Given the description of an element on the screen output the (x, y) to click on. 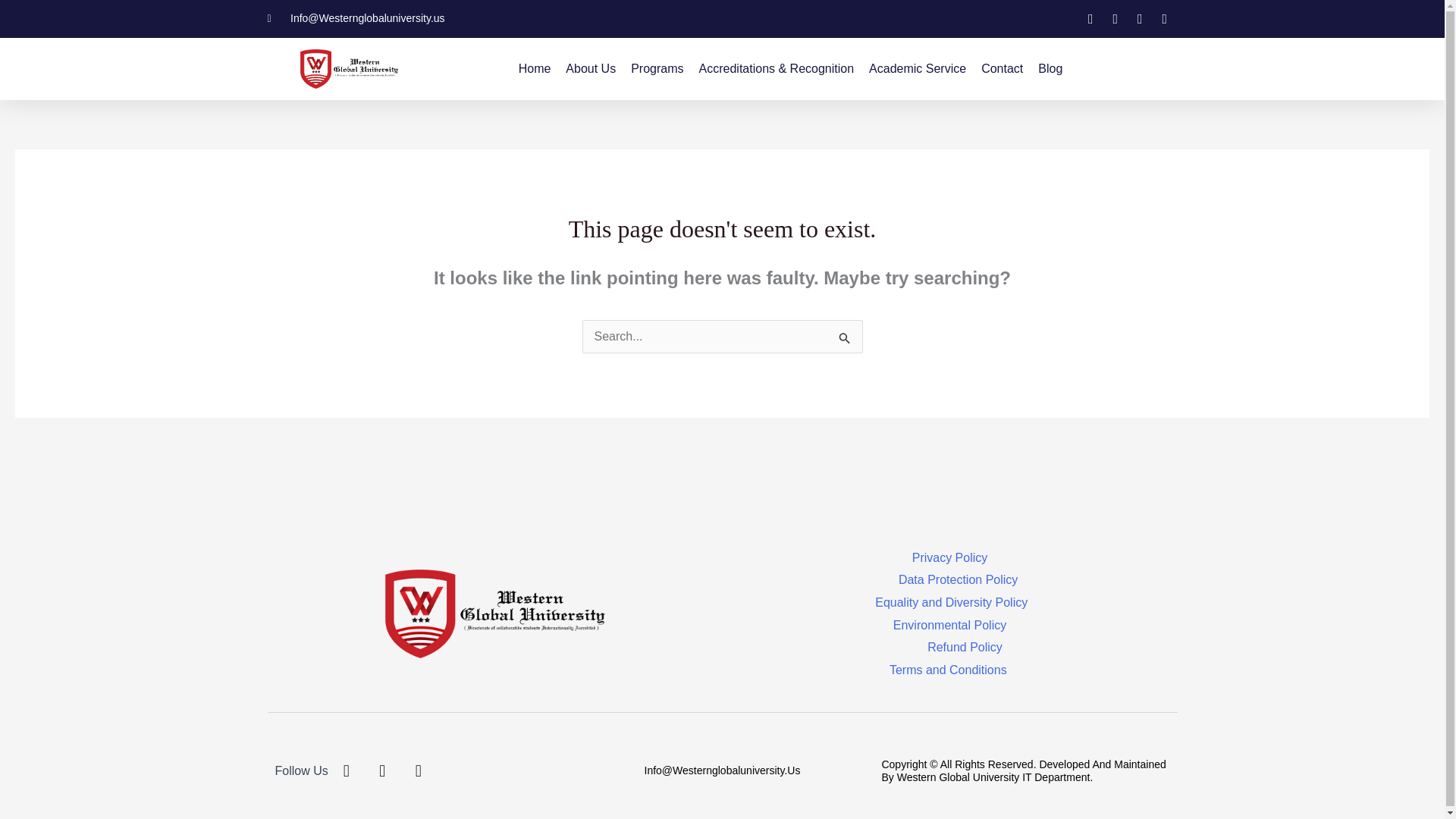
Programs (656, 68)
About Us (590, 68)
Home (534, 68)
